Given the description of an element on the screen output the (x, y) to click on. 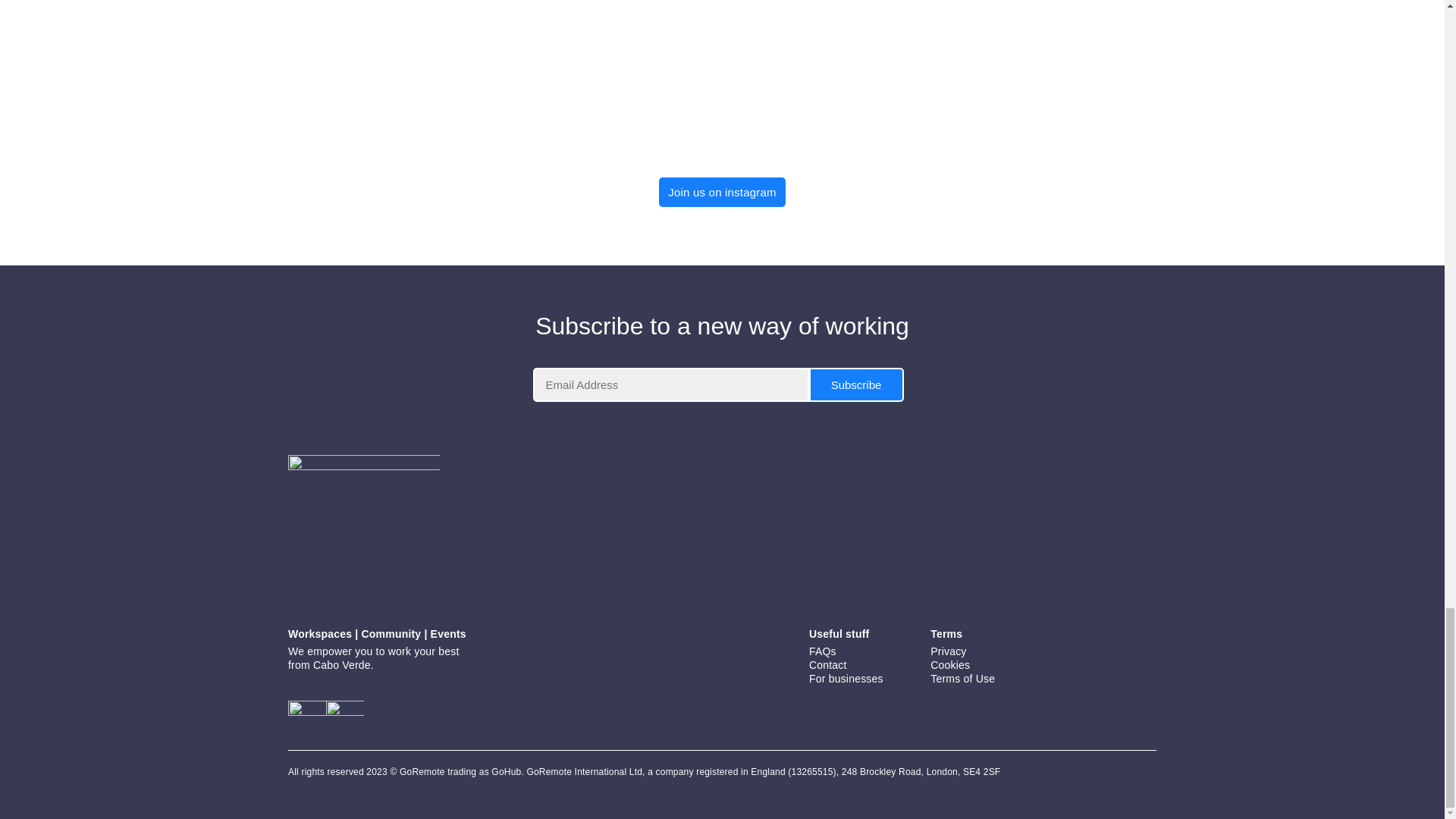
For businesses (846, 678)
Cookies (949, 664)
Terms of Use (962, 678)
FAQs (822, 651)
Join us on instagram (721, 192)
Contact (828, 664)
Privacy (948, 651)
Subscribe (855, 384)
Subscribe (855, 384)
